Given the description of an element on the screen output the (x, y) to click on. 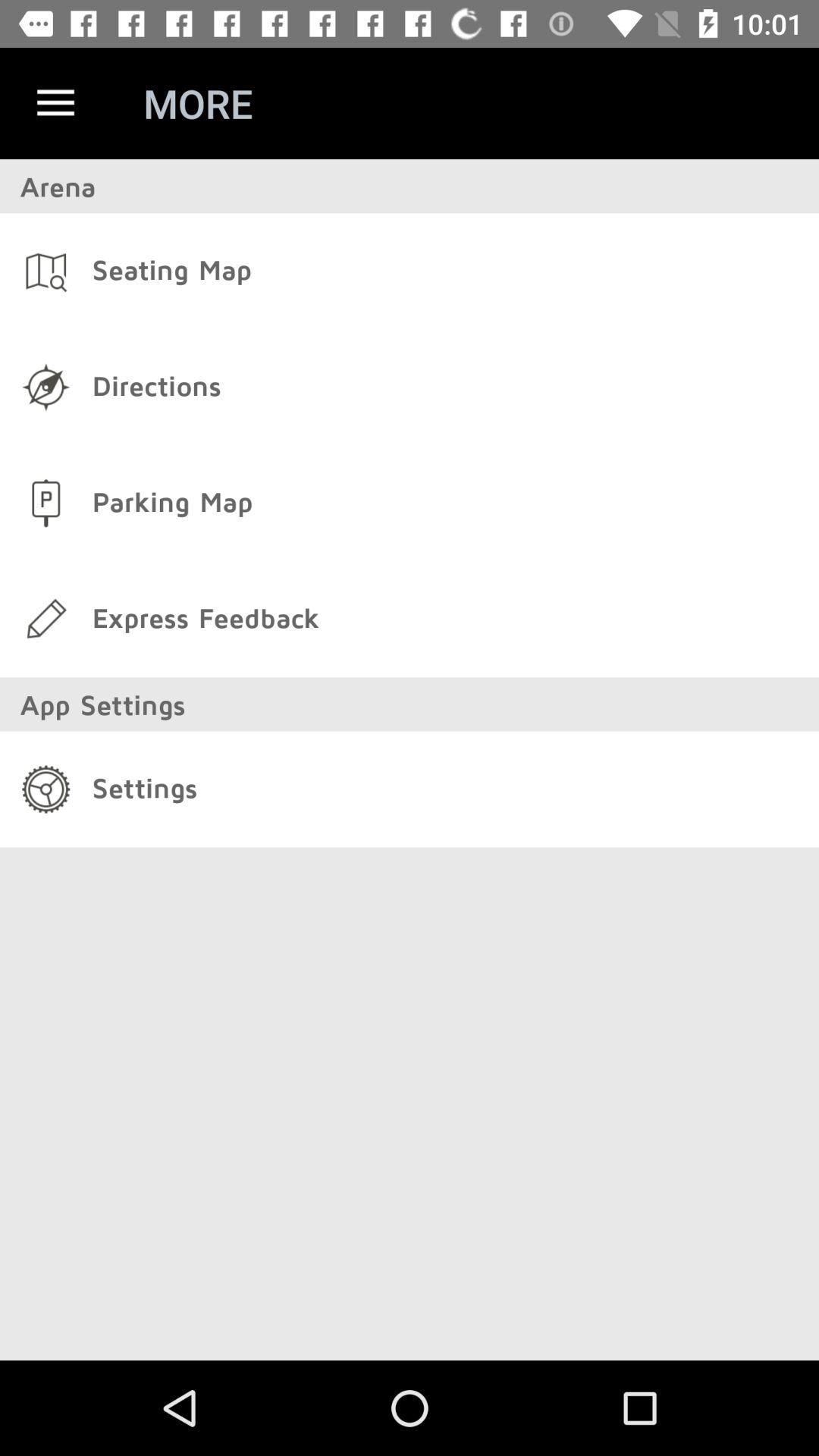
open the item next to more icon (55, 103)
